Given the description of an element on the screen output the (x, y) to click on. 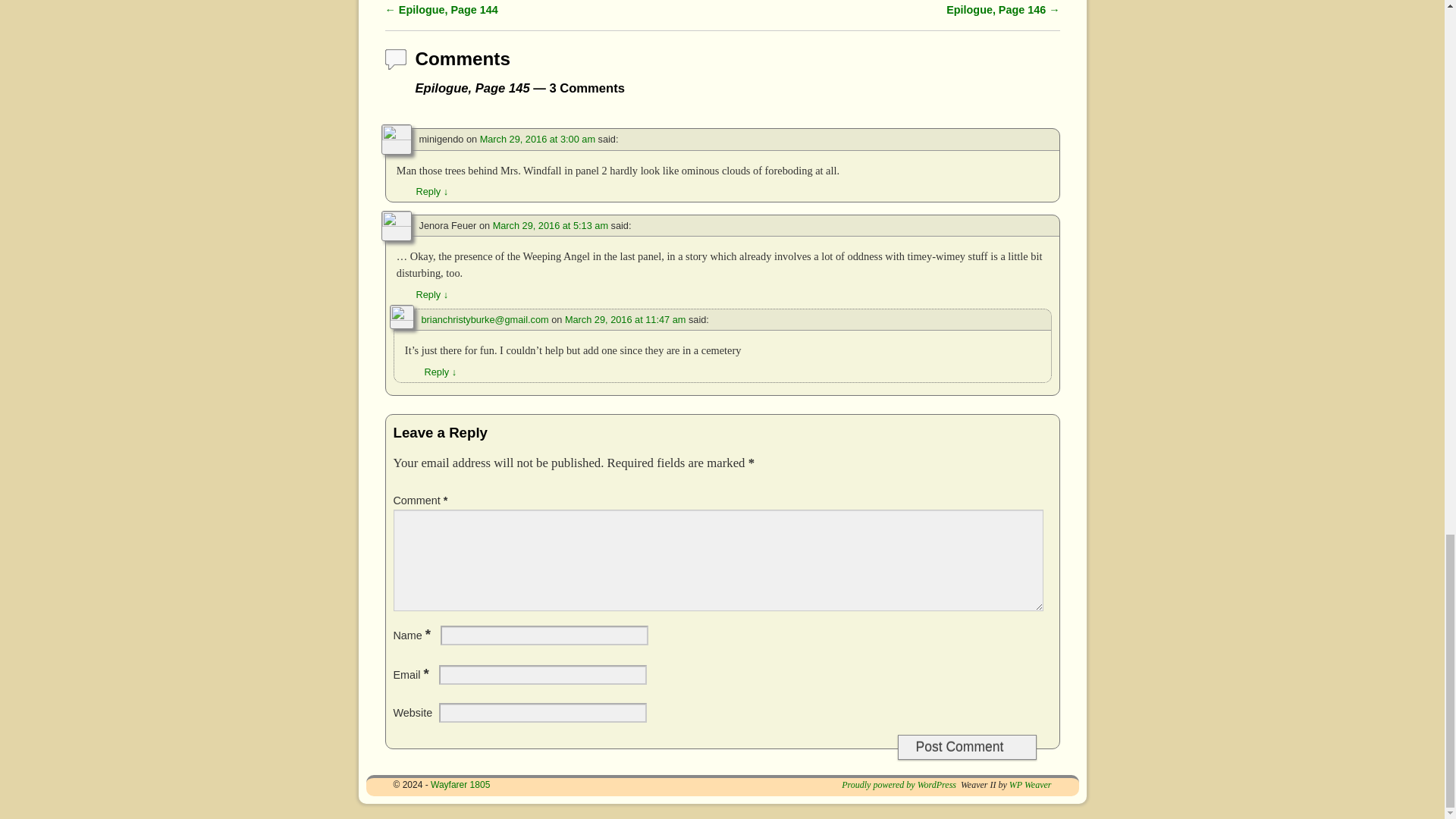
March 29, 2016 at 5:13 am (550, 225)
Post Comment (966, 747)
March 29, 2016 at 3:00 am (537, 138)
March 29, 2016 at 11:47 am (624, 319)
Wayfarer 1805 (459, 784)
Proudly powered by WordPress (898, 784)
Wayfarer 1805 (459, 784)
WP Weaver (1030, 784)
wordpress.org (898, 784)
Post Comment (966, 747)
